Given the description of an element on the screen output the (x, y) to click on. 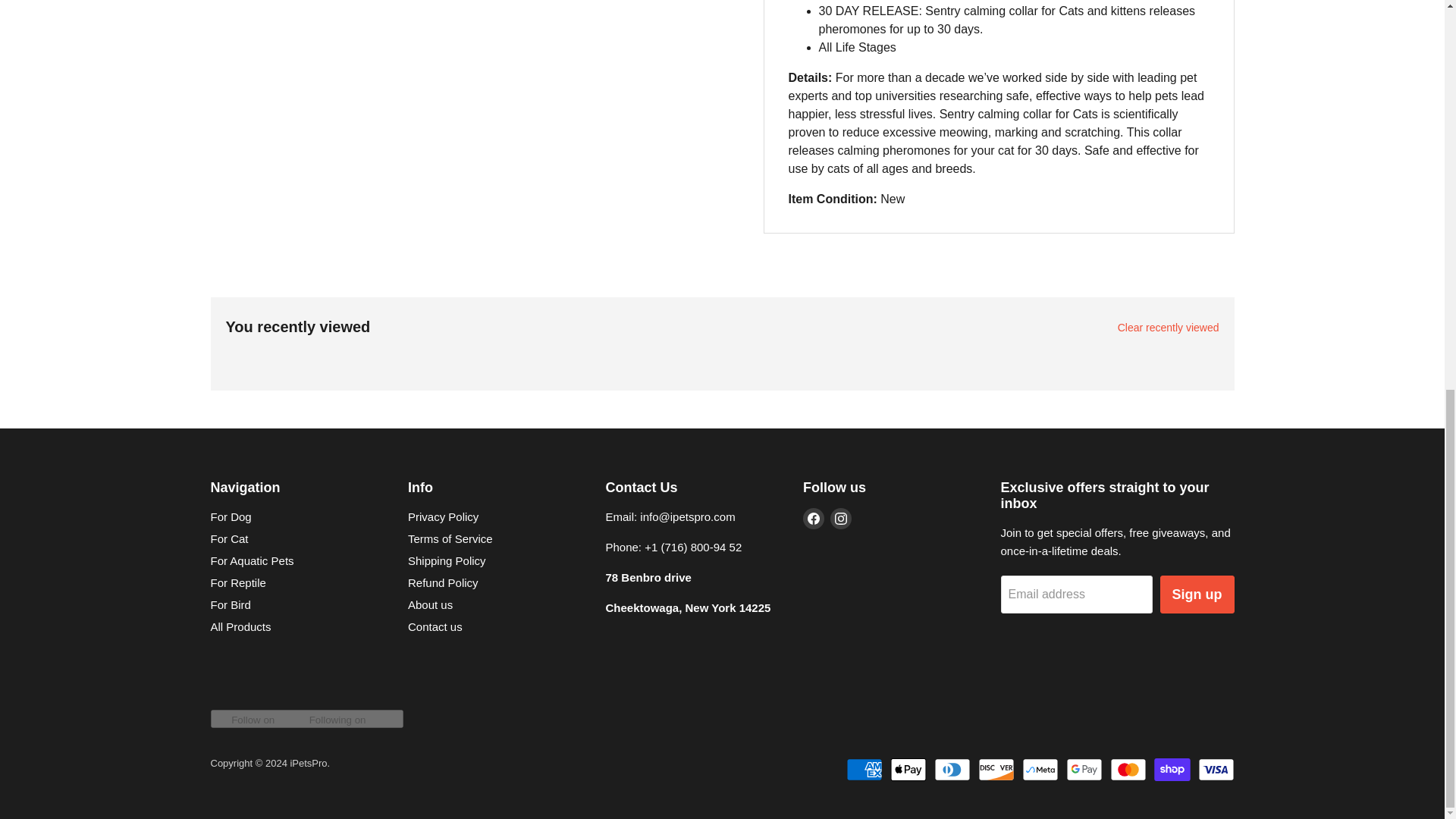
Discover (996, 769)
American Express (863, 769)
Google Pay (1083, 769)
Apple Pay (907, 769)
Instagram (840, 518)
Diners Club (952, 769)
Meta Pay (1040, 769)
Facebook (813, 518)
